Given the description of an element on the screen output the (x, y) to click on. 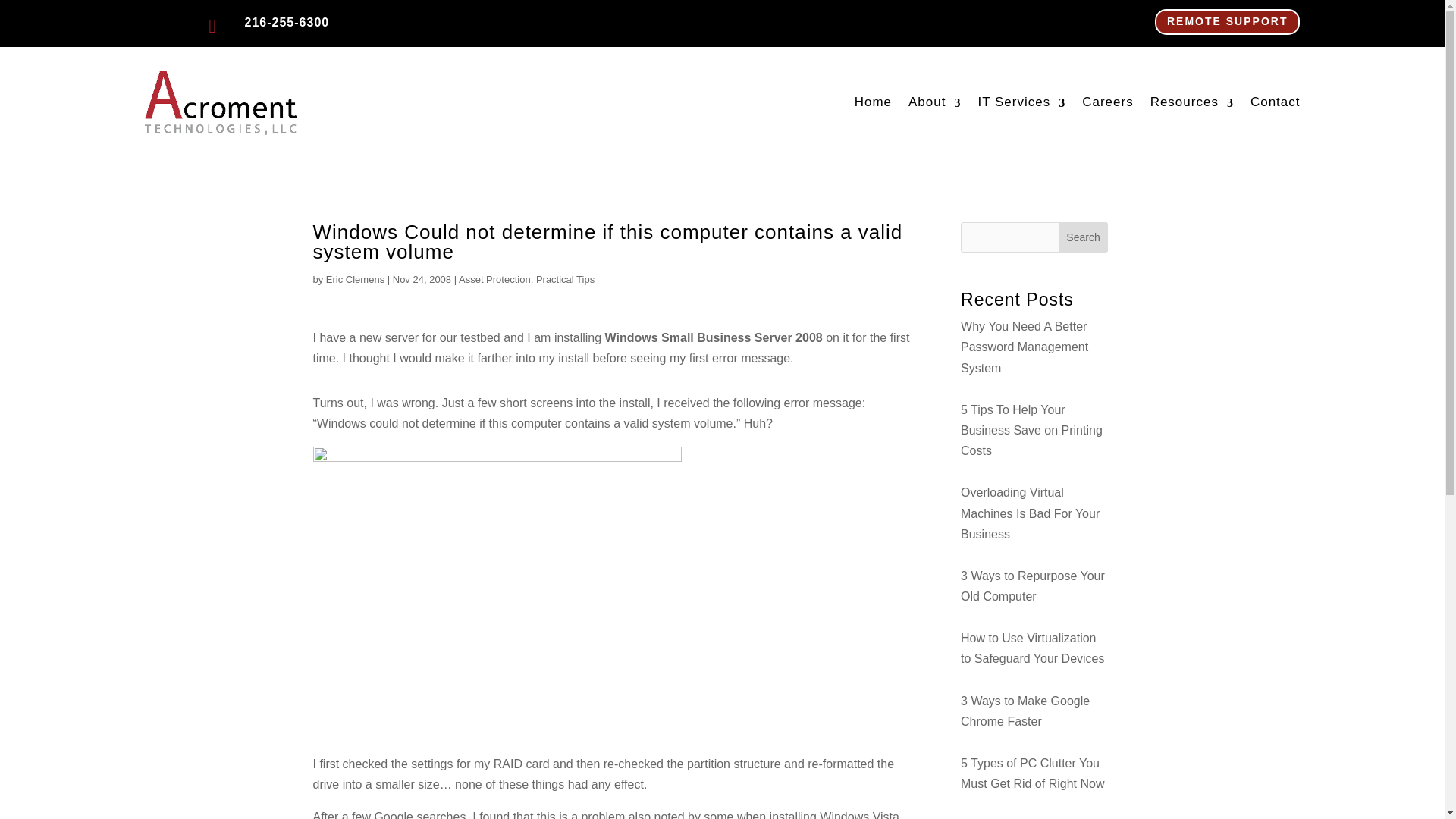
Resources (1191, 102)
REMOTE SUPPORT (1227, 22)
Posts by Eric Clemens (355, 279)
IT Services (1020, 102)
216-255-6300 (287, 21)
